Given the description of an element on the screen output the (x, y) to click on. 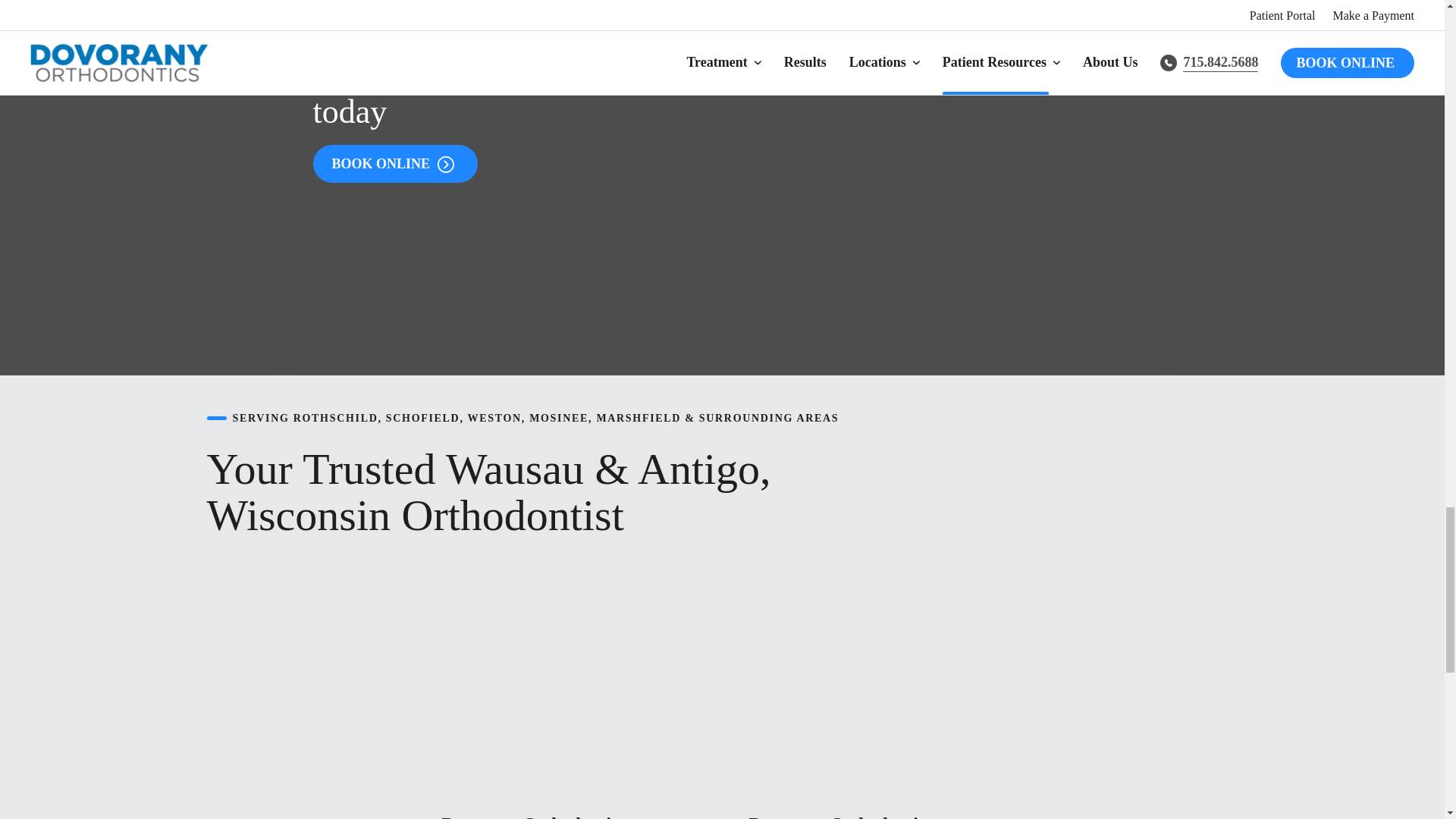
BOOK ONLINE (395, 163)
BOOK ONLINE (395, 163)
